Given the description of an element on the screen output the (x, y) to click on. 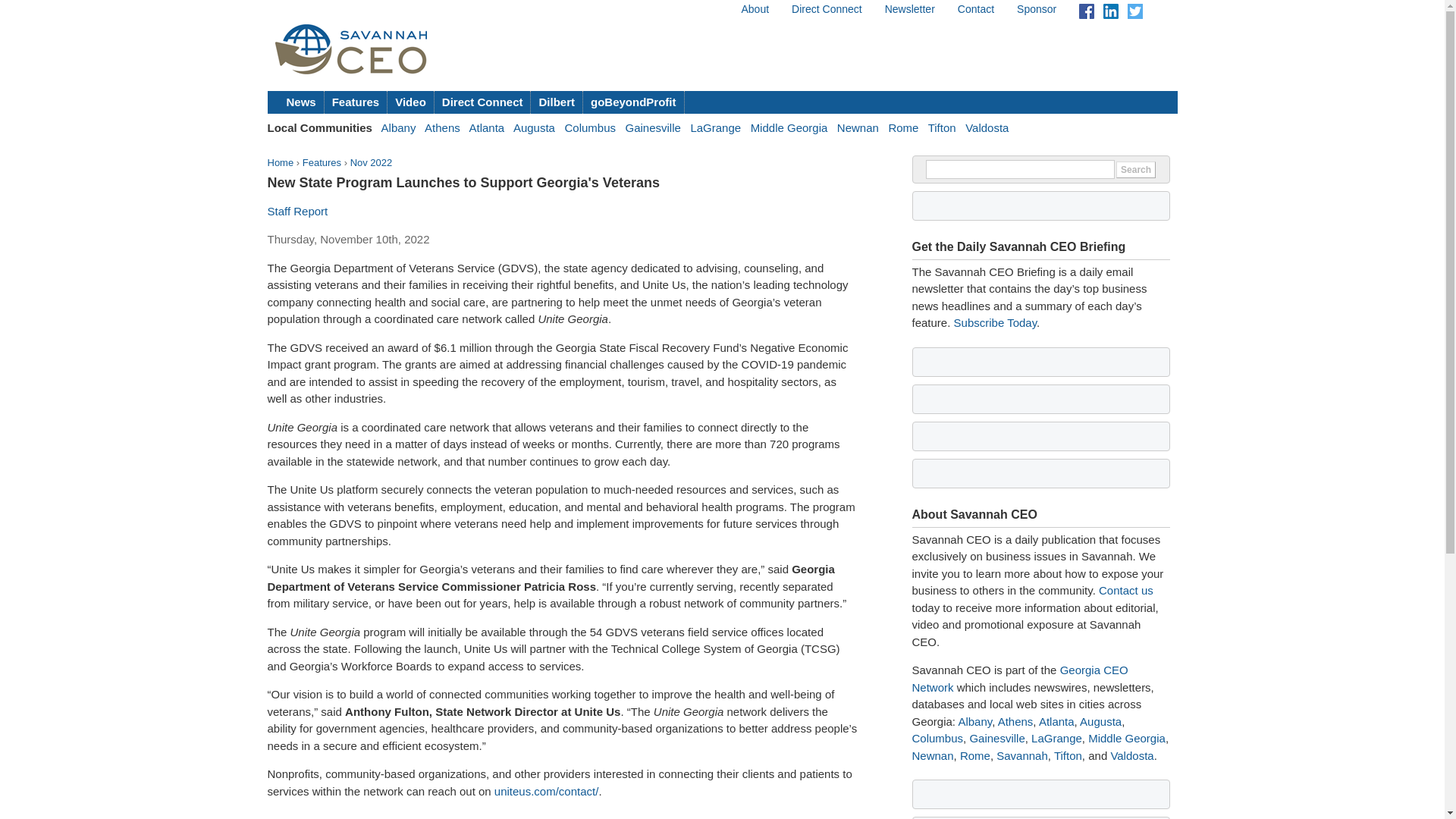
Sponsor (1036, 9)
Georgia CEO Network (1018, 678)
Newnan (858, 127)
Albany (398, 127)
Features (356, 101)
Subscribe Today (994, 322)
Augusta (533, 127)
Columbus (589, 127)
goBeyondProfit (633, 101)
Athens (442, 127)
Valdosta (987, 127)
Contact us (1126, 590)
News (301, 101)
Gainesville (651, 127)
Direct Connect (482, 101)
